Given the description of an element on the screen output the (x, y) to click on. 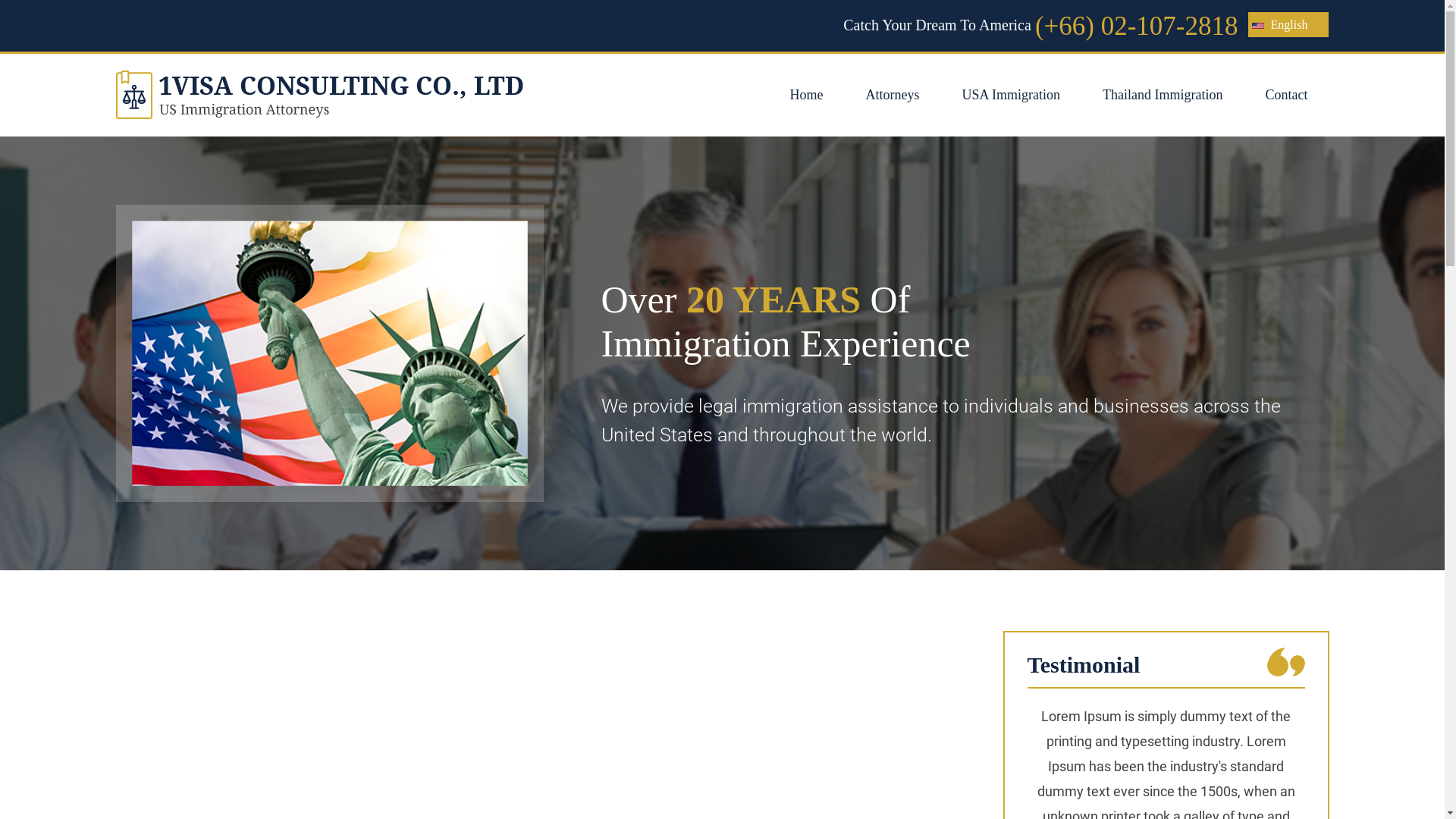
(+66) 02-107-2818 Element type: text (1136, 26)
Contact Element type: text (1285, 94)
English Element type: text (1288, 24)
Thailand Immigration Element type: text (1162, 94)
USA Immigration Element type: text (1011, 94)
Attorneys Element type: text (892, 94)
1Visa Element type: hover (318, 94)
Home Element type: text (806, 94)
